Given the description of an element on the screen output the (x, y) to click on. 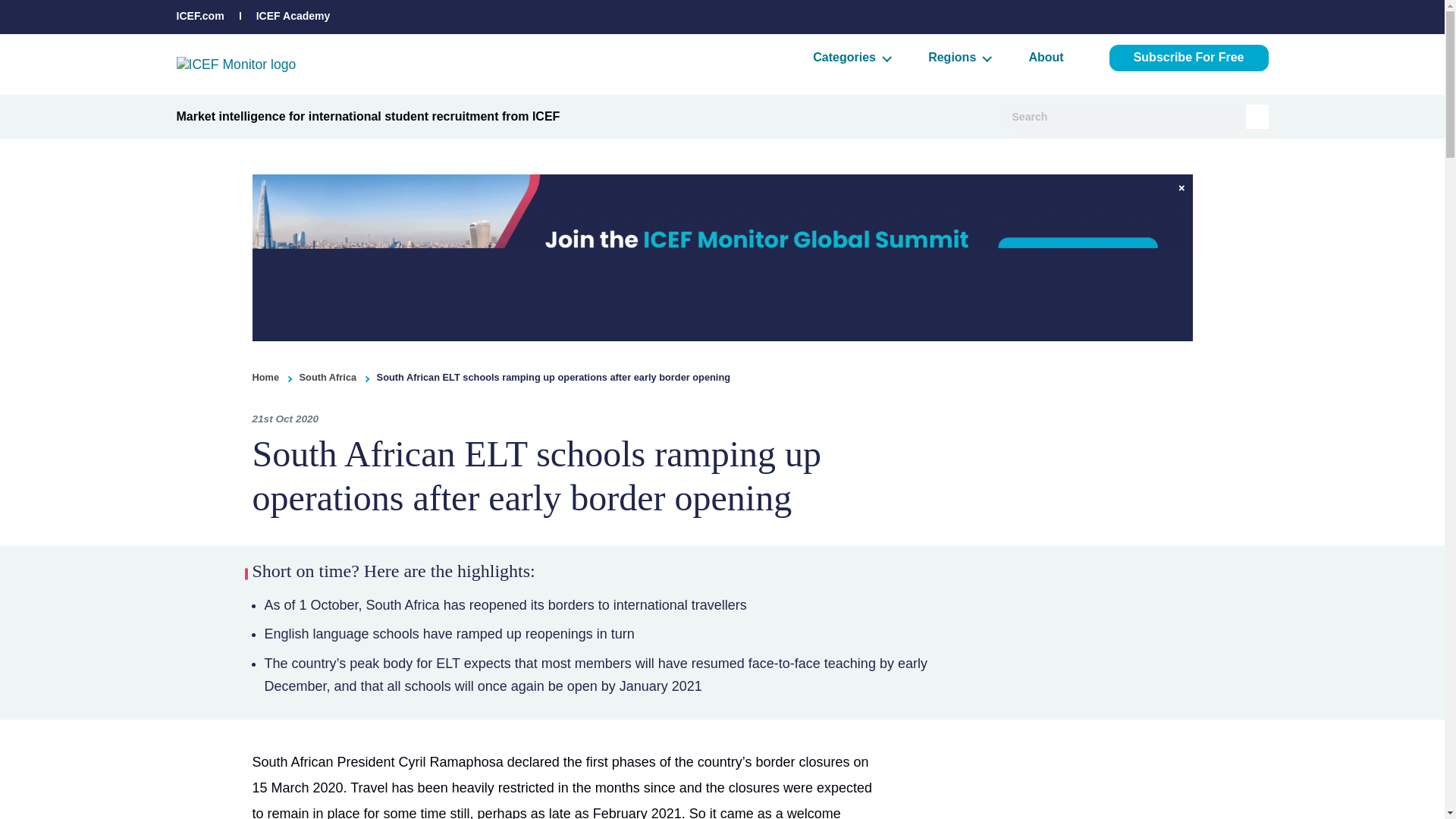
Subscribe For Free (1188, 58)
Categories (847, 56)
Regions (955, 56)
ICEF Academy (293, 15)
About (1044, 56)
ICEF.com (200, 15)
